Given the description of an element on the screen output the (x, y) to click on. 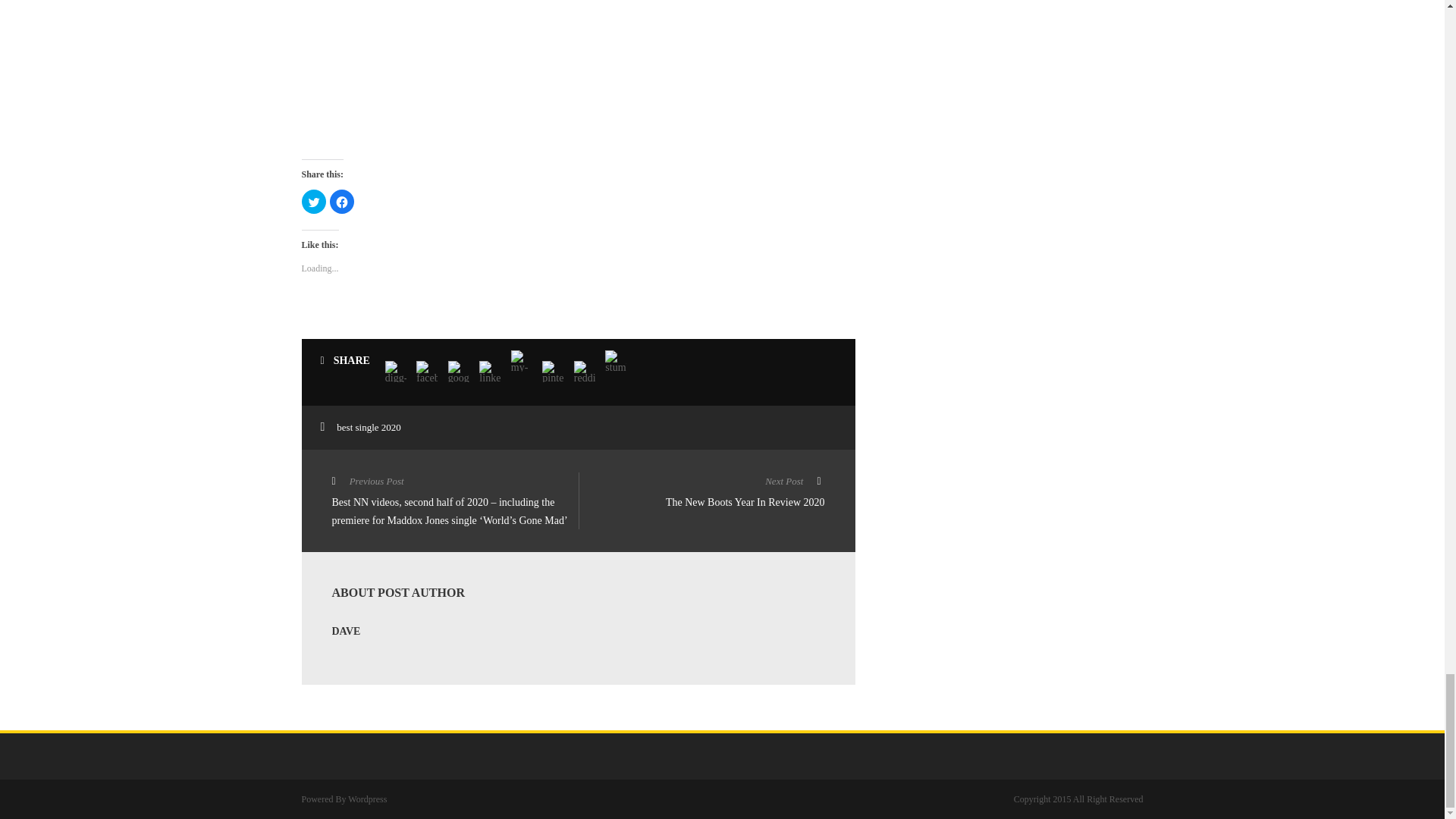
Spotify Embed: Best singles of 2020 (415, 71)
Click to share on Twitter (313, 201)
Click to share on Facebook (341, 201)
Posts by Dave (346, 631)
